Given the description of an element on the screen output the (x, y) to click on. 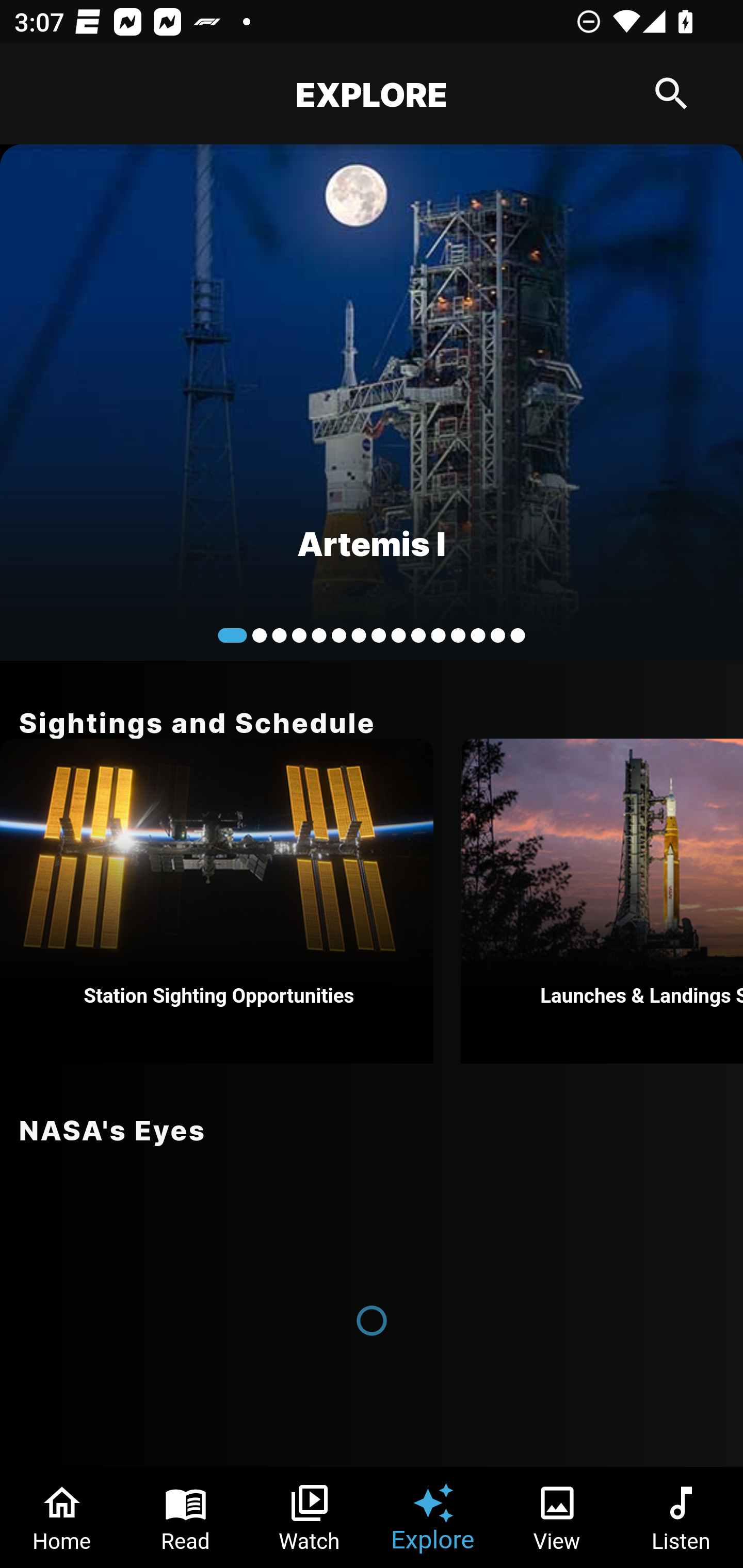
Artemis I
Hello World (371, 402)
Station Sighting Opportunities (216, 900)
Launches & Landings Schedule (601, 900)
Home
Tab 1 of 6 (62, 1517)
Read
Tab 2 of 6 (185, 1517)
Watch
Tab 3 of 6 (309, 1517)
Explore
Tab 4 of 6 (433, 1517)
View
Tab 5 of 6 (556, 1517)
Listen
Tab 6 of 6 (680, 1517)
